Given the description of an element on the screen output the (x, y) to click on. 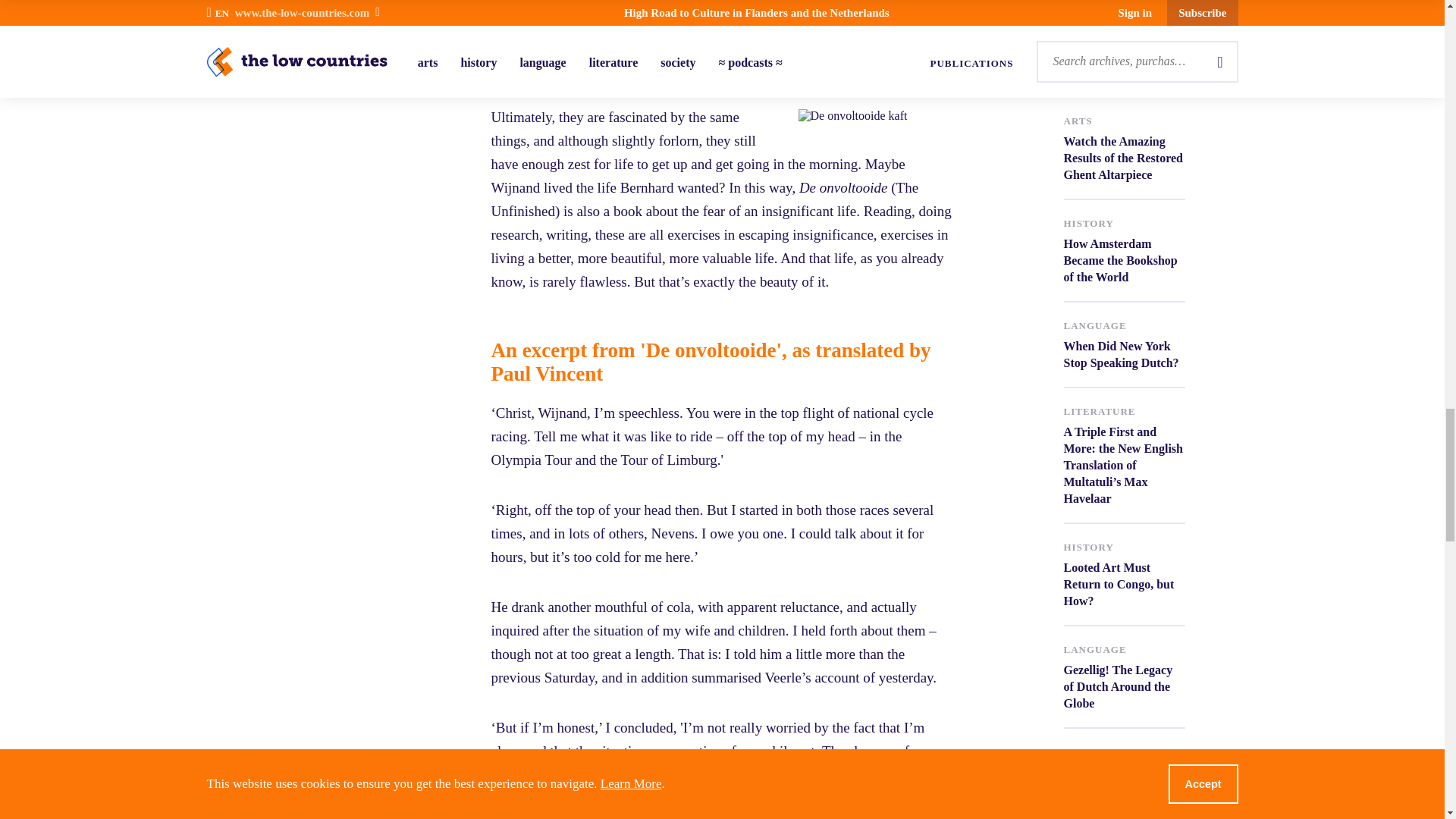
De onvoltooide kaft (913, 115)
